Given the description of an element on the screen output the (x, y) to click on. 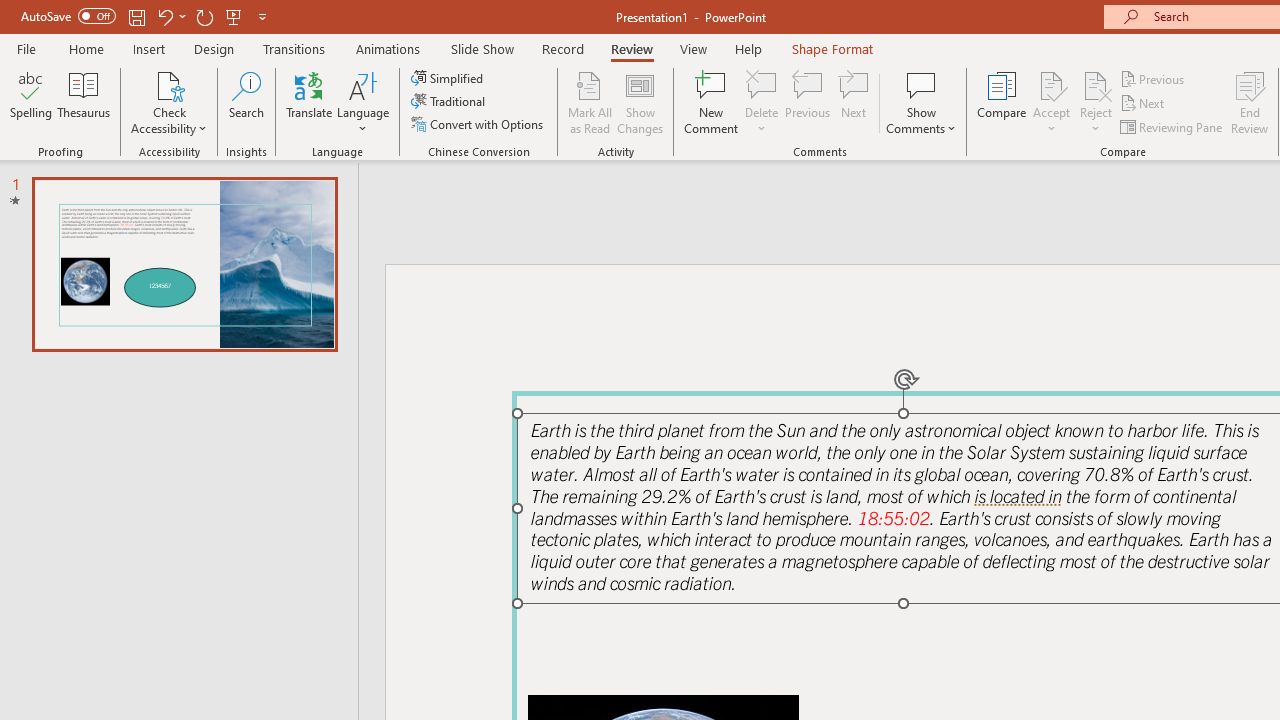
Reviewing Pane (1172, 126)
New Comment (711, 102)
Reject Change (1096, 84)
Thesaurus... (83, 102)
Reject (1096, 102)
End Review (1249, 102)
